Given the description of an element on the screen output the (x, y) to click on. 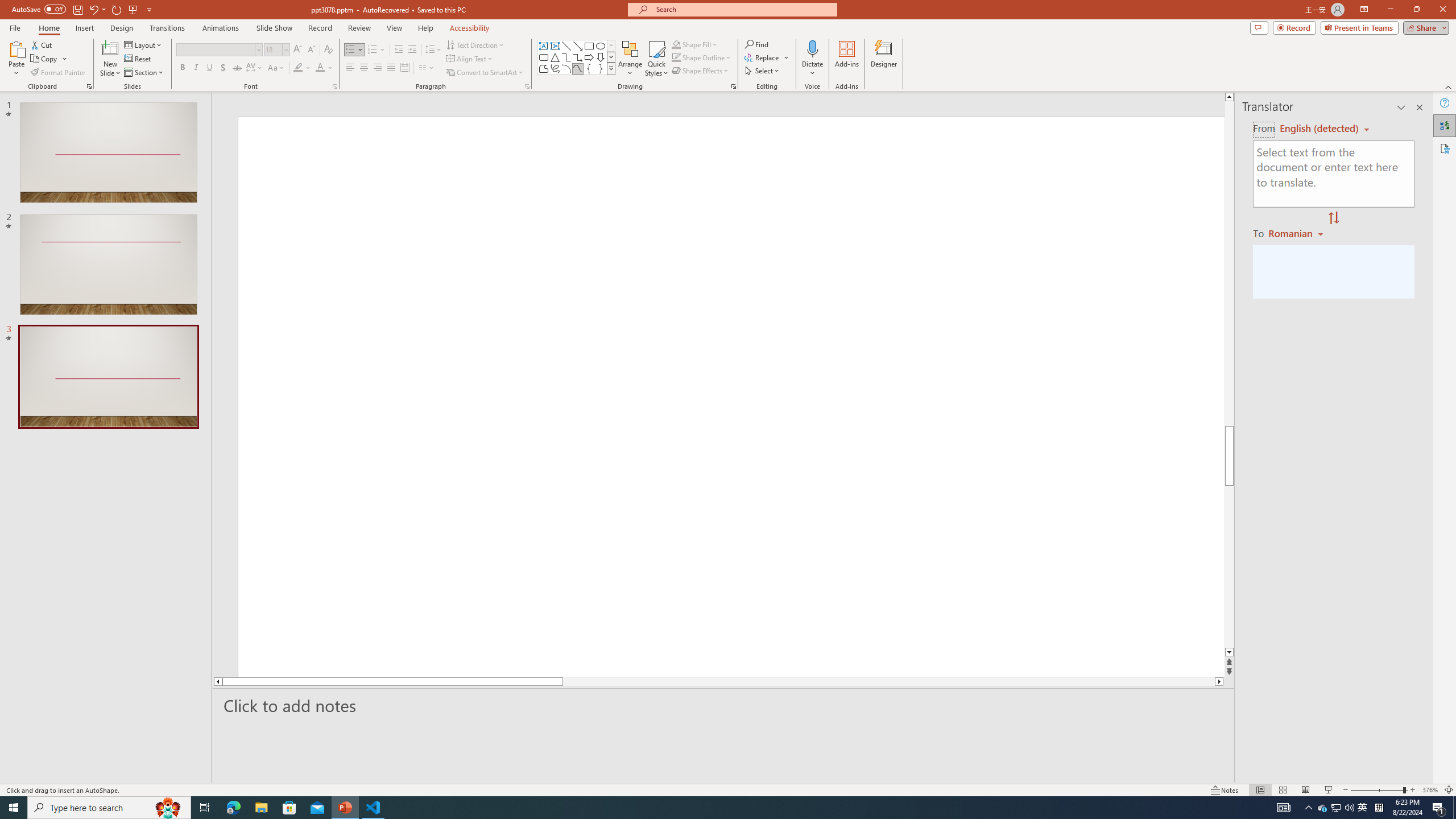
Microsoft search (742, 9)
Arrange (630, 58)
Design (122, 28)
Center (363, 67)
Font Size (276, 49)
Font Color (324, 67)
Dictate (812, 48)
View (395, 28)
Page up (1229, 263)
Font Size (273, 49)
Select (762, 69)
Close (1442, 9)
Underline (209, 67)
